Given the description of an element on the screen output the (x, y) to click on. 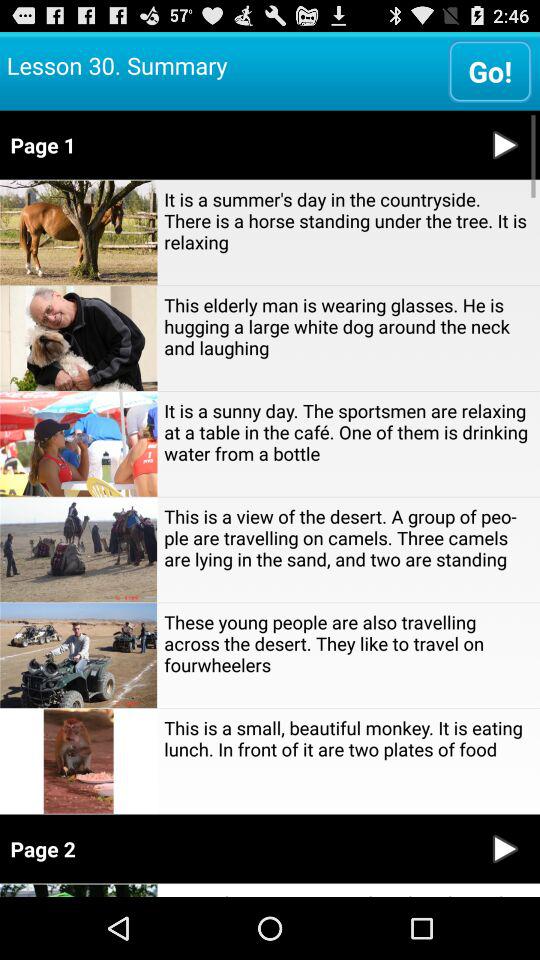
select page 1 icon (235, 144)
